Given the description of an element on the screen output the (x, y) to click on. 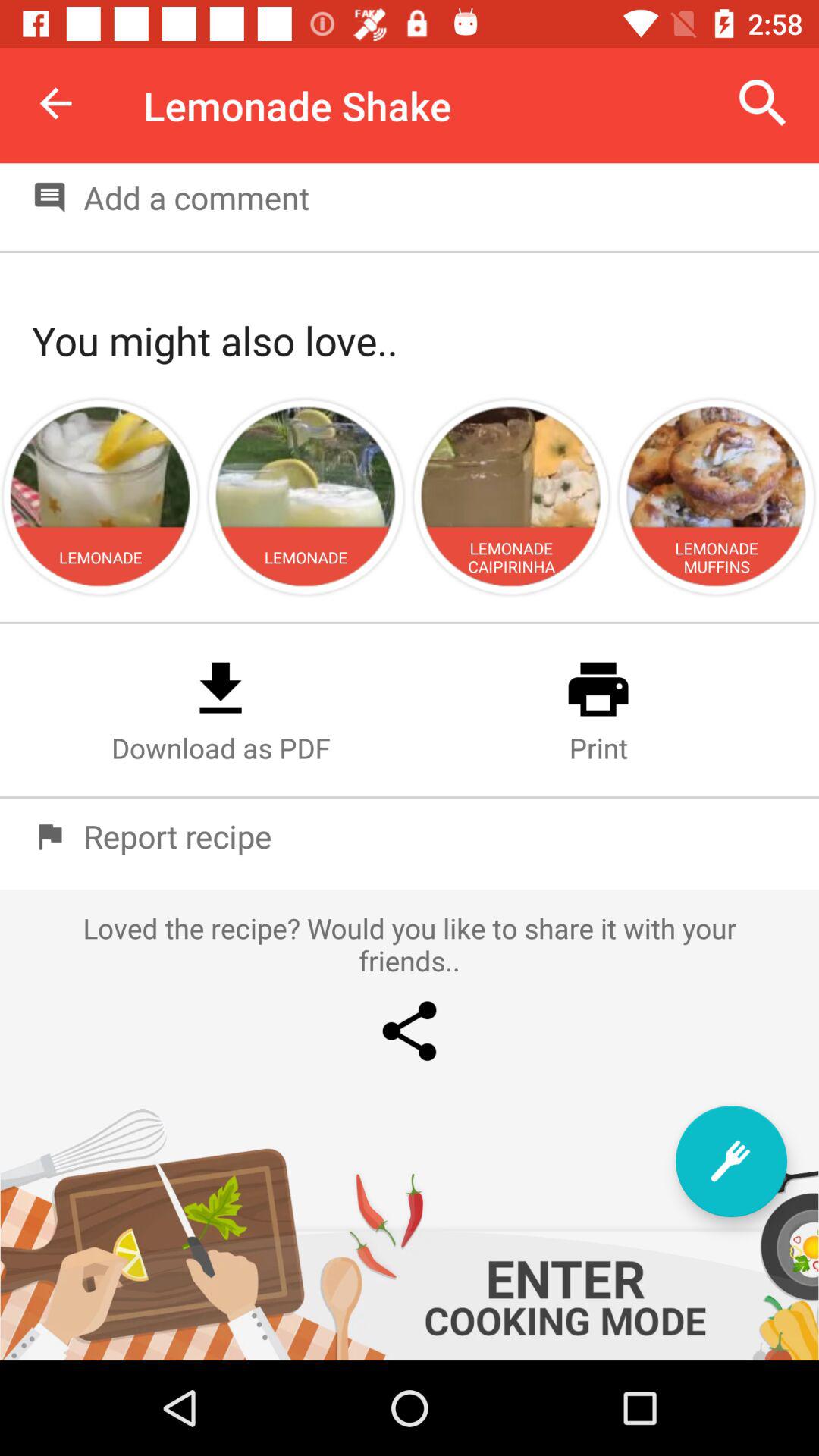
select the item next to lemonade shake (55, 103)
